Given the description of an element on the screen output the (x, y) to click on. 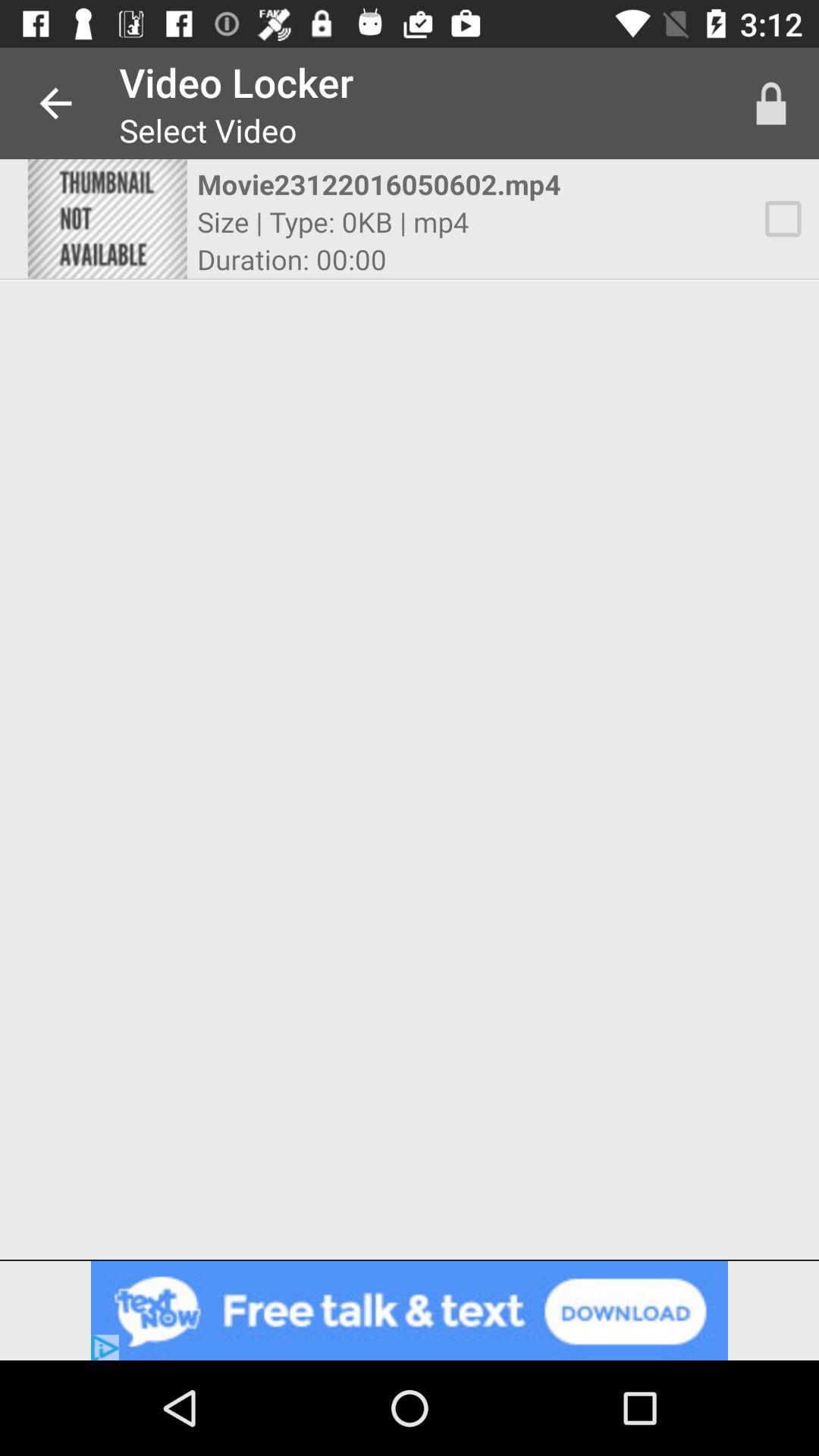
click the item below size type 0kb icon (291, 259)
